Given the description of an element on the screen output the (x, y) to click on. 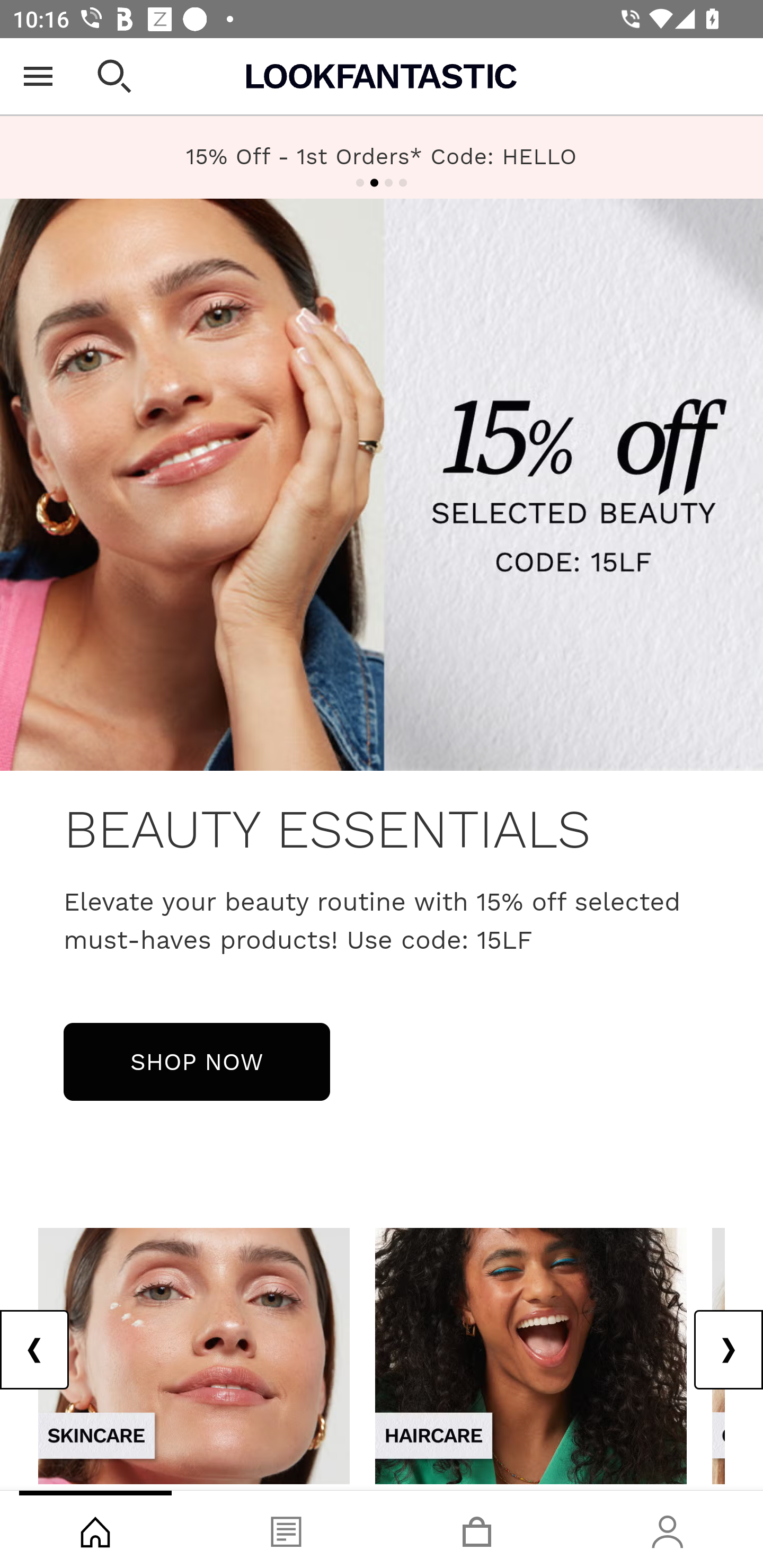
Shop, tab, 1 of 4 (95, 1529)
Blog, tab, 2 of 4 (285, 1529)
Basket, tab, 3 of 4 (476, 1529)
Account, tab, 4 of 4 (667, 1529)
